Given the description of an element on the screen output the (x, y) to click on. 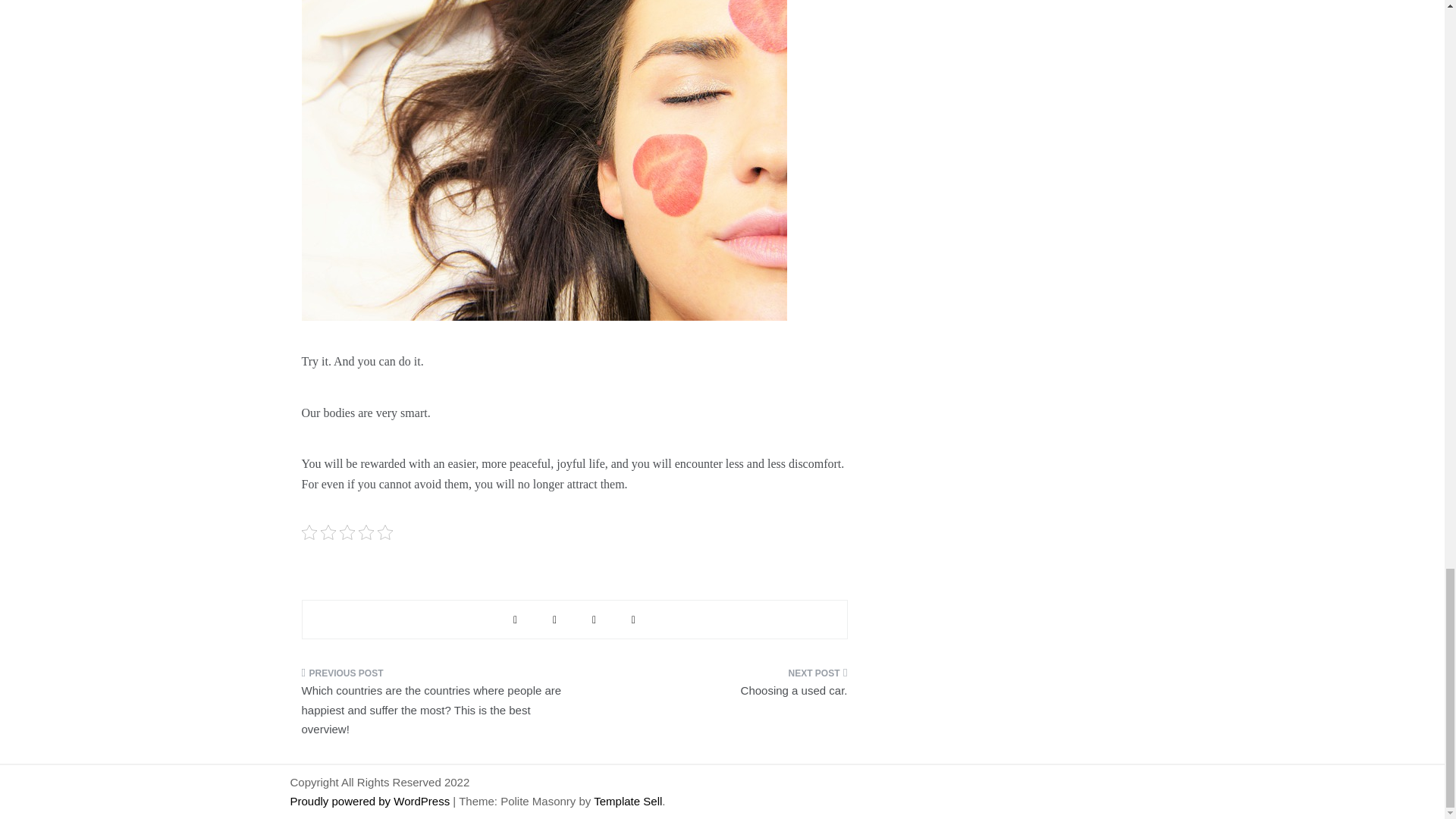
Choosing a used car. (716, 686)
